Given the description of an element on the screen output the (x, y) to click on. 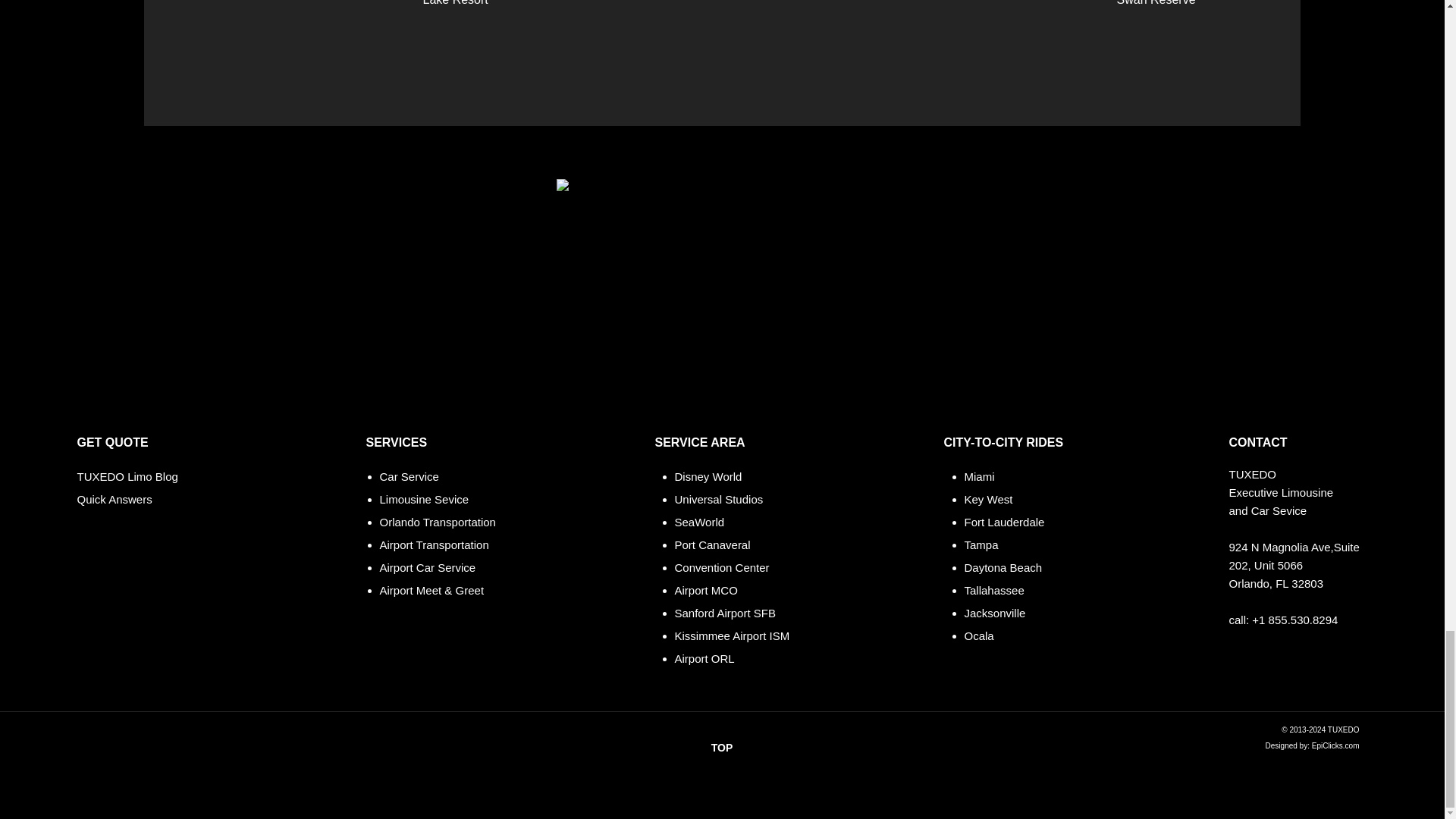
MCO to Disney World Swan Resort. (721, 291)
